Given the description of an element on the screen output the (x, y) to click on. 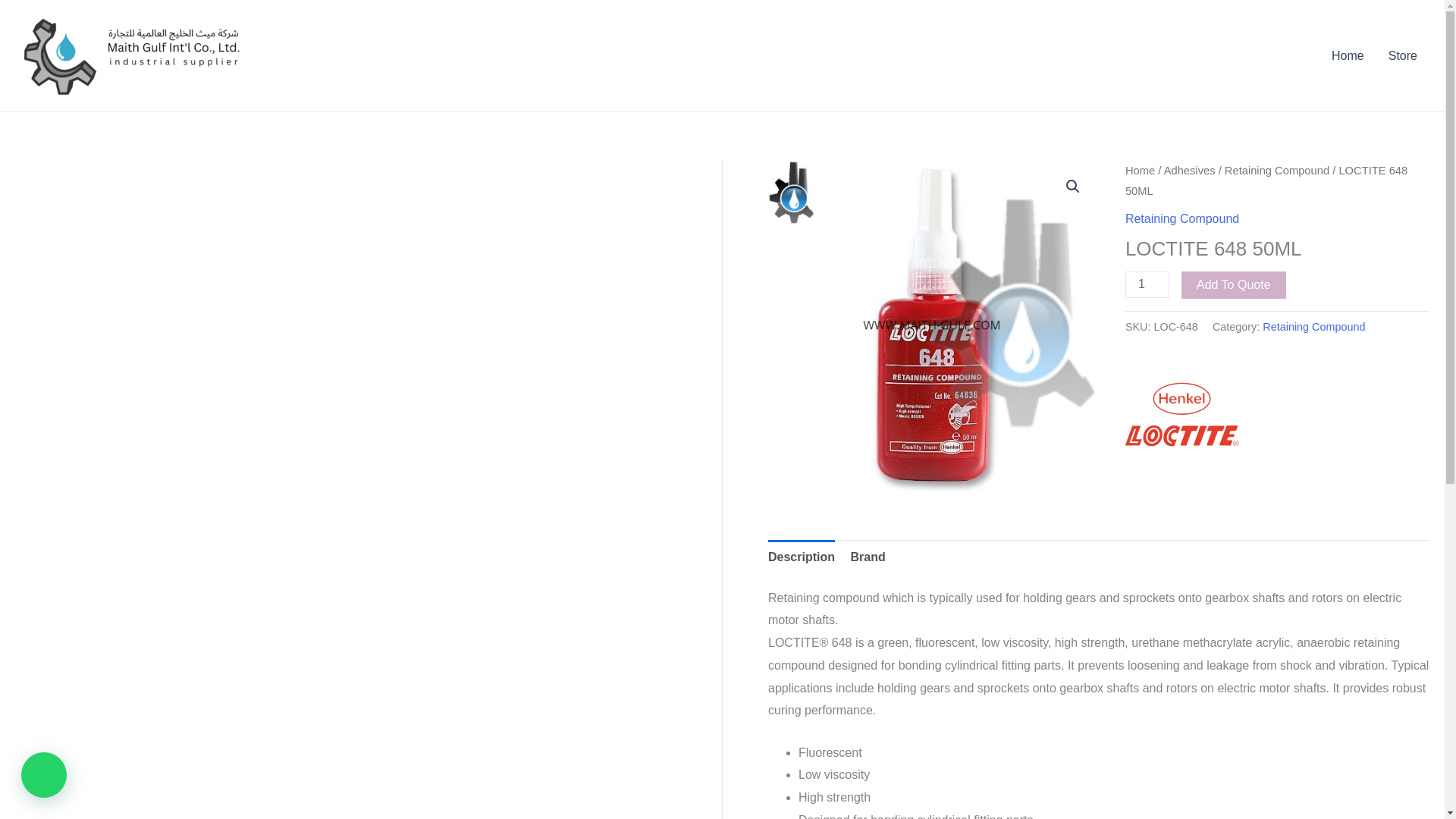
Adhesives (1189, 170)
Add To Quote (1232, 284)
1 (1147, 284)
Loctite (1182, 414)
Retaining Compound (1182, 218)
Retaining Compound (1313, 326)
648 (933, 325)
Retaining Compound (1276, 170)
Description (801, 556)
Home (1139, 170)
Home (1347, 55)
Brand (867, 556)
